Given the description of an element on the screen output the (x, y) to click on. 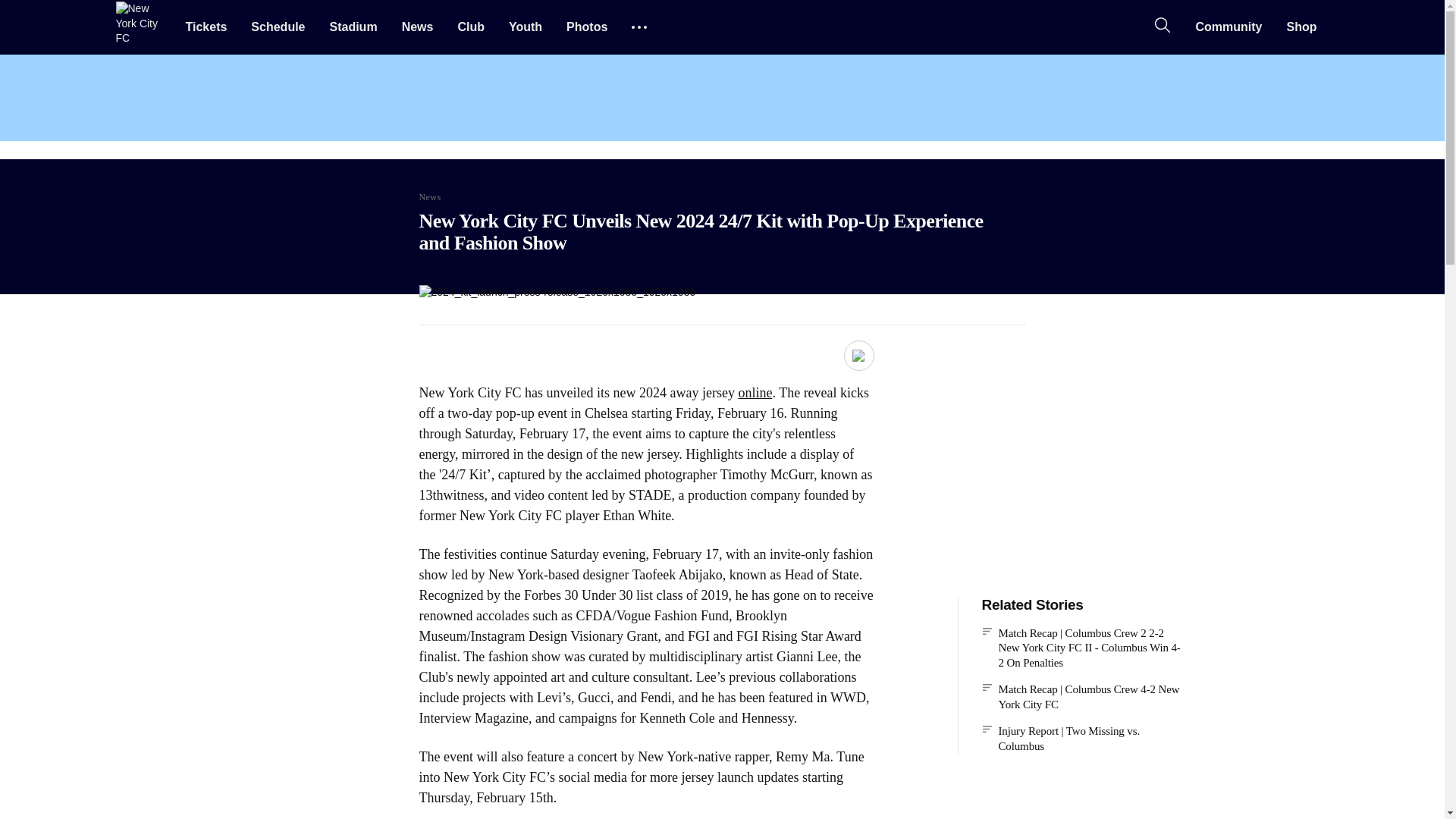
News (417, 26)
Schedule (277, 26)
Shop (1300, 26)
Community (1228, 26)
Youth (525, 26)
Club (470, 26)
Tickets (205, 26)
New York City FC (141, 27)
Photos (587, 26)
Stadium (352, 26)
